Given the description of an element on the screen output the (x, y) to click on. 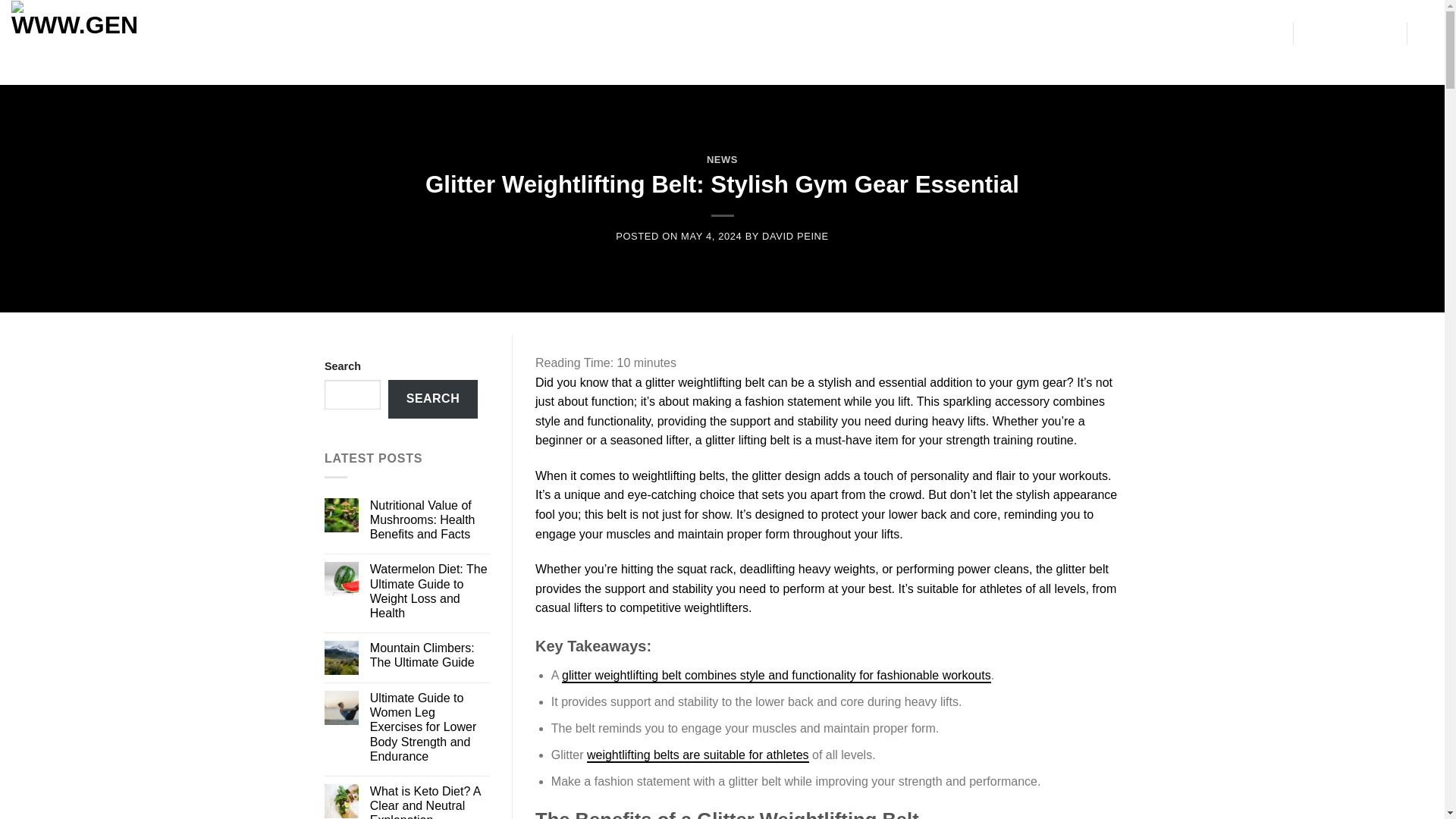
Login (1425, 32)
WORKOUTS (402, 32)
Glitter Lifting Belt: Upgrade Your Workout Style (776, 676)
www.genghisfitness.com - Pure Fitness Pure Power (87, 36)
FITNESS ACCESSORIES (295, 32)
RECIPES (543, 32)
HOME (207, 32)
What is Keto Diet? A Clear and Neutral Explanation (429, 801)
Mountain Climbers: The Ultimate Guide (429, 654)
Cart (1349, 33)
Nutritional Value of Mushrooms: Health Benefits and Facts (429, 519)
High-Quality Weightlifting Belts for Athletes (697, 755)
NUTRITION (475, 32)
